Given the description of an element on the screen output the (x, y) to click on. 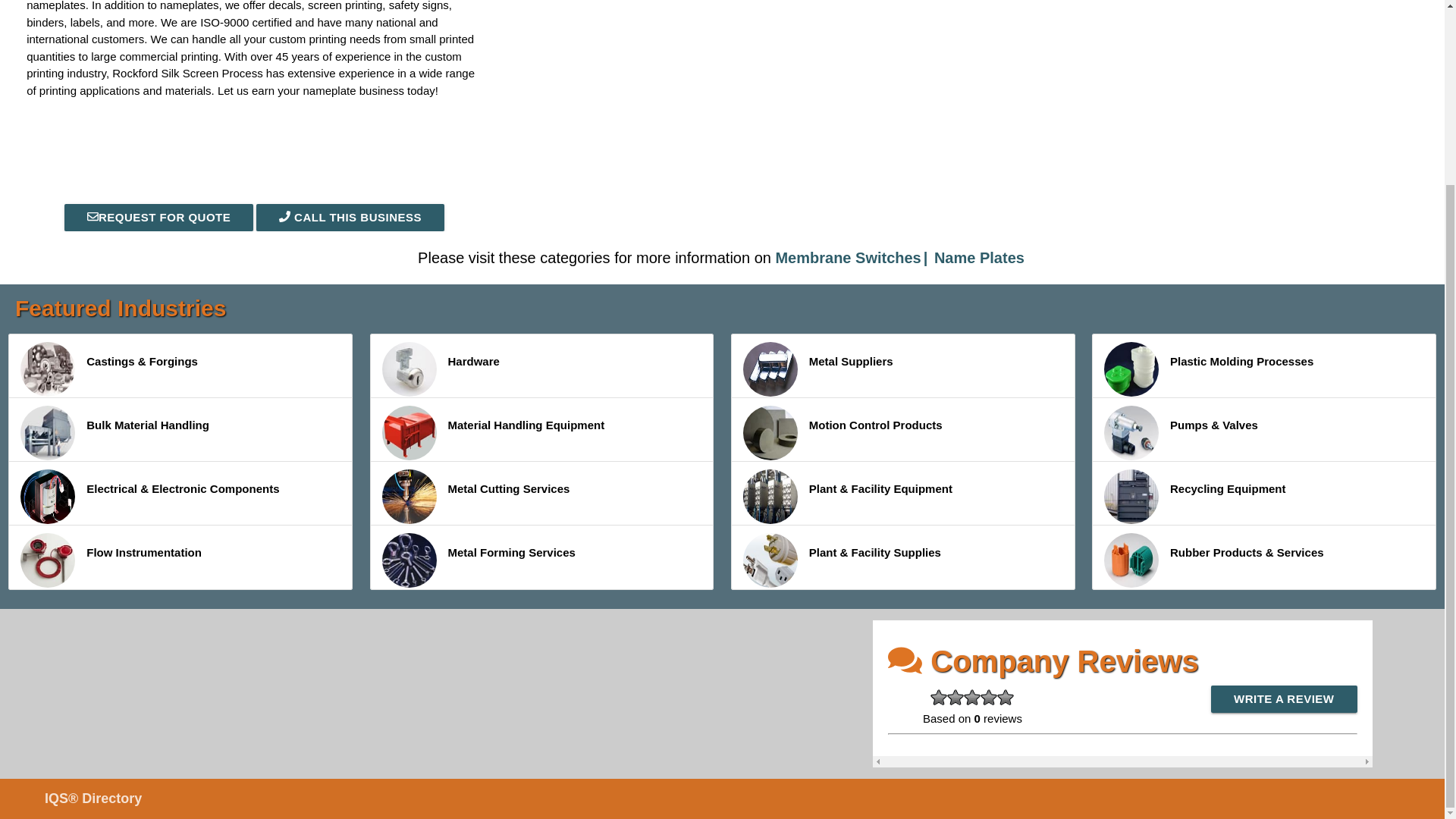
Motion Control Products (769, 432)
Recycling Equipment (1130, 496)
Name Plates (980, 257)
Metal Cutting Services (408, 496)
Flow Instrumentation (47, 560)
Recycling Equipment (1264, 493)
Plastic Molding Processes (1264, 366)
2 (955, 697)
Metal Forming Services (541, 556)
Plastic Molding Processes (1130, 369)
4 (988, 697)
3 (971, 697)
Bulk Material Handling (180, 429)
Hardware (408, 369)
Bulk Material Handling (47, 432)
